Given the description of an element on the screen output the (x, y) to click on. 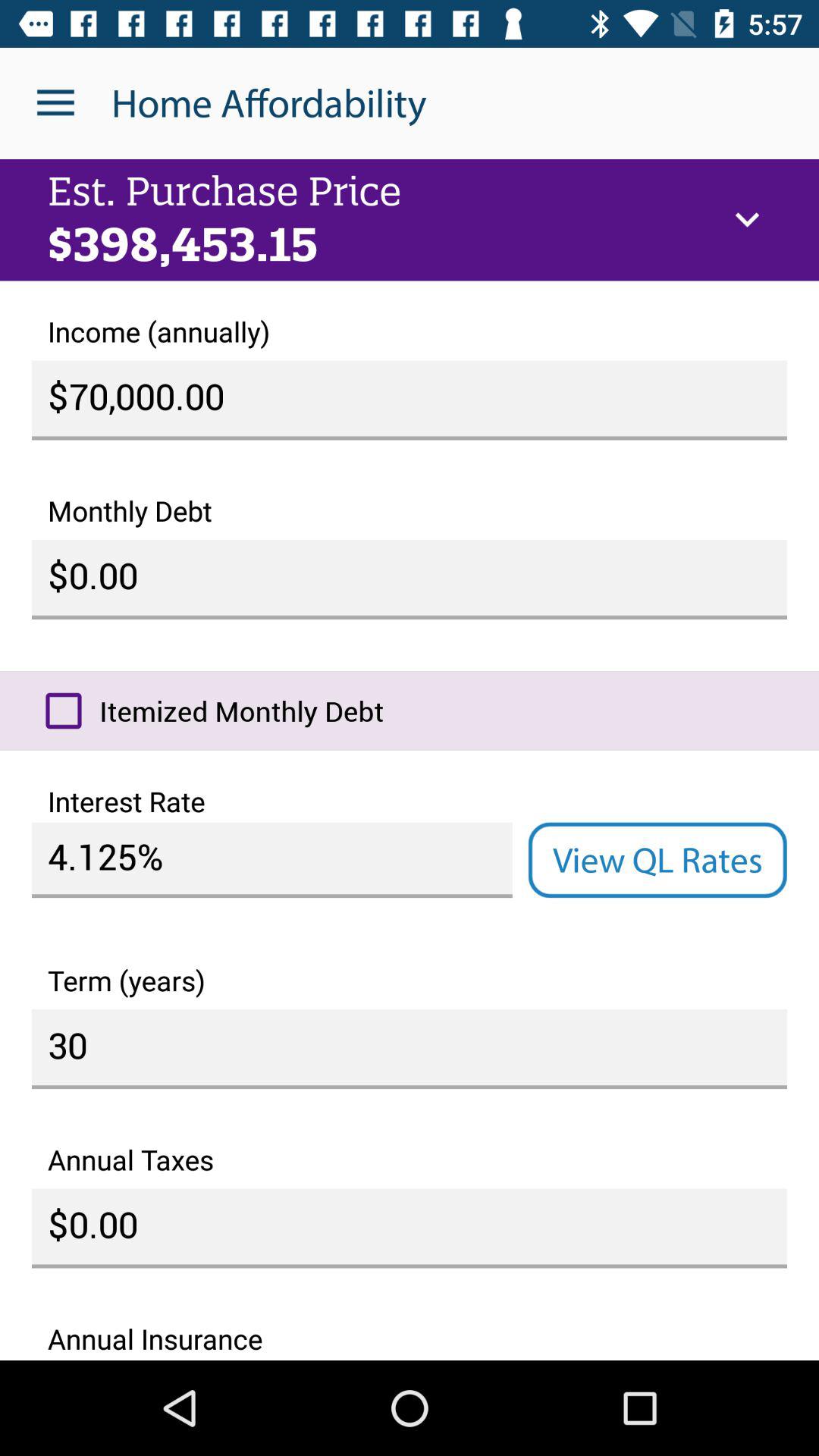
press icon above est. purchase price (55, 103)
